Given the description of an element on the screen output the (x, y) to click on. 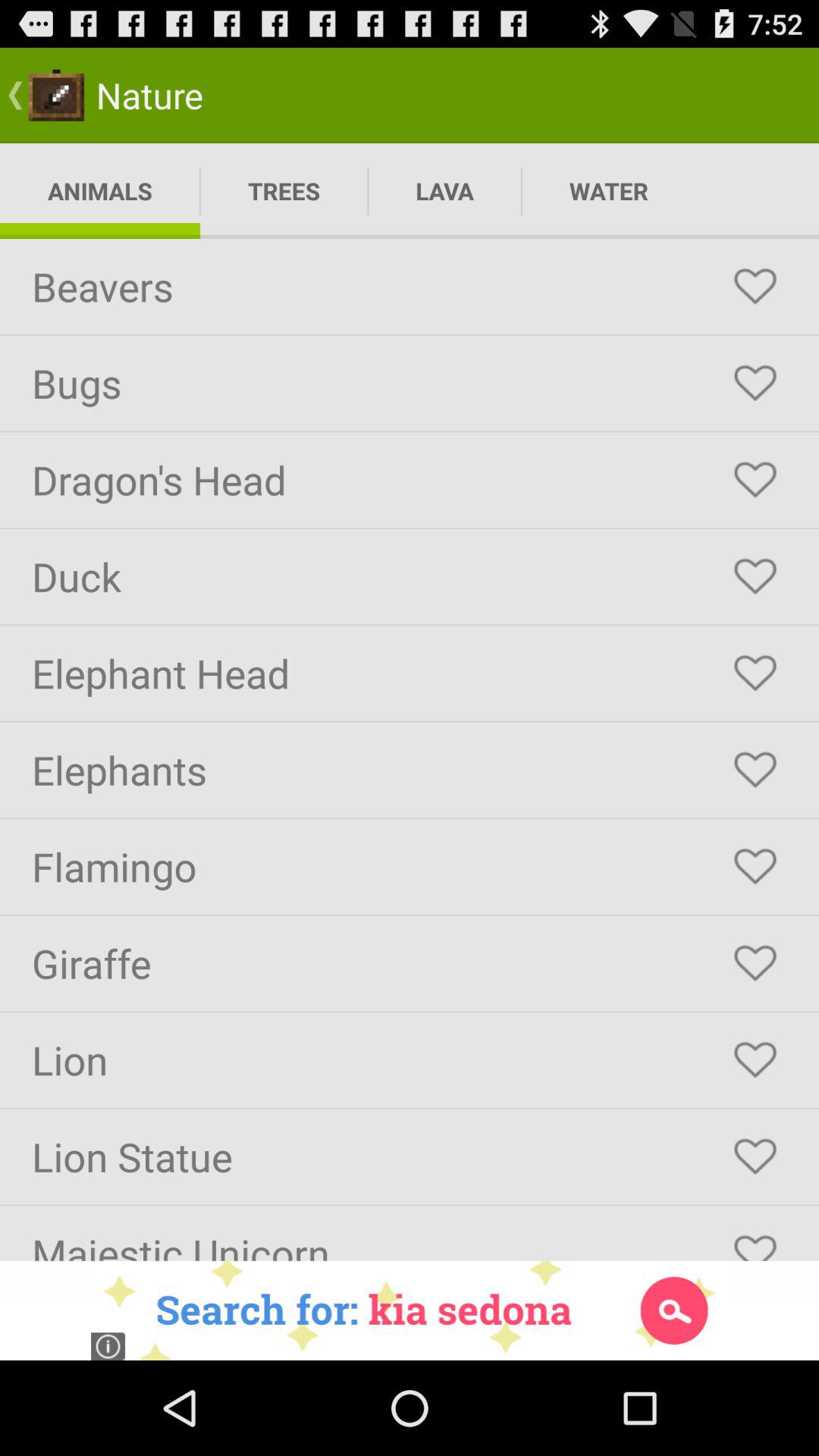
select as favorite (755, 286)
